Given the description of an element on the screen output the (x, y) to click on. 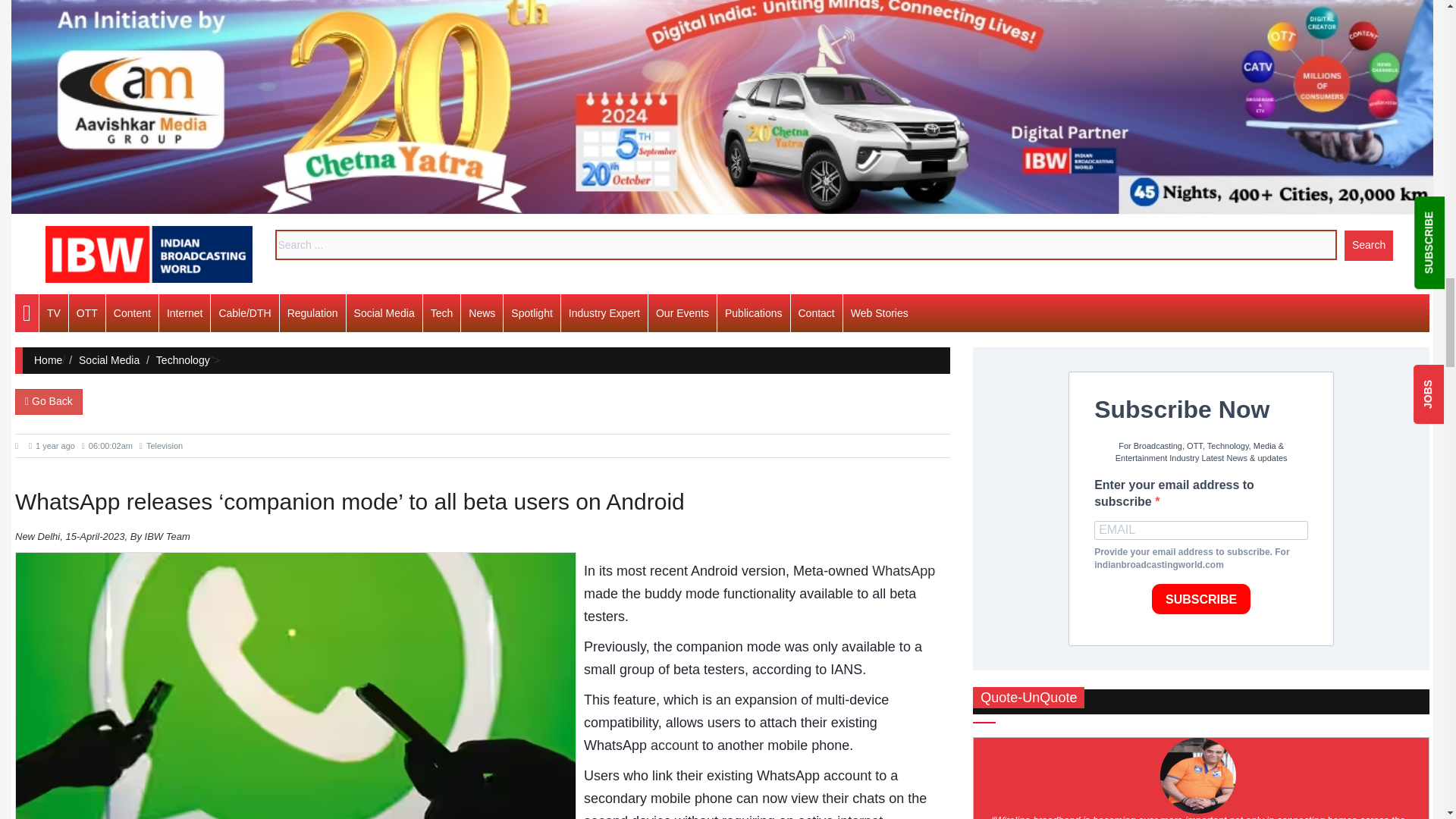
Search (1368, 245)
Search (1368, 245)
Content (131, 313)
OTT (86, 313)
Search (1368, 245)
Internet (183, 313)
